Given the description of an element on the screen output the (x, y) to click on. 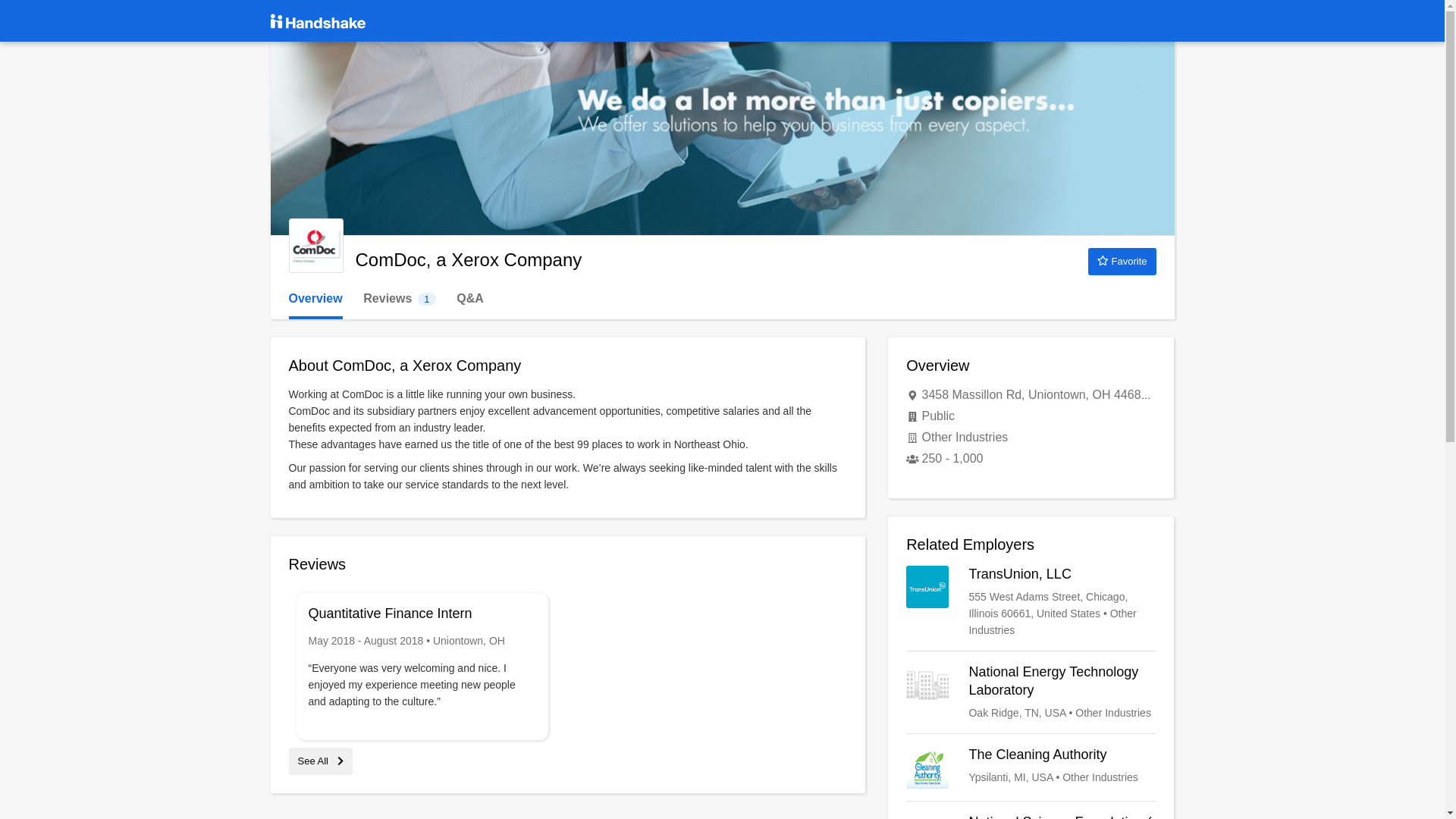
National Energy Technology Laboratory (1030, 692)
The Cleaning Authority (1030, 767)
TransUnion, LLC (1030, 601)
Favorite (1121, 261)
See All (398, 298)
Overview (320, 760)
ComDoc, a Xerox Company (315, 298)
